Given the description of an element on the screen output the (x, y) to click on. 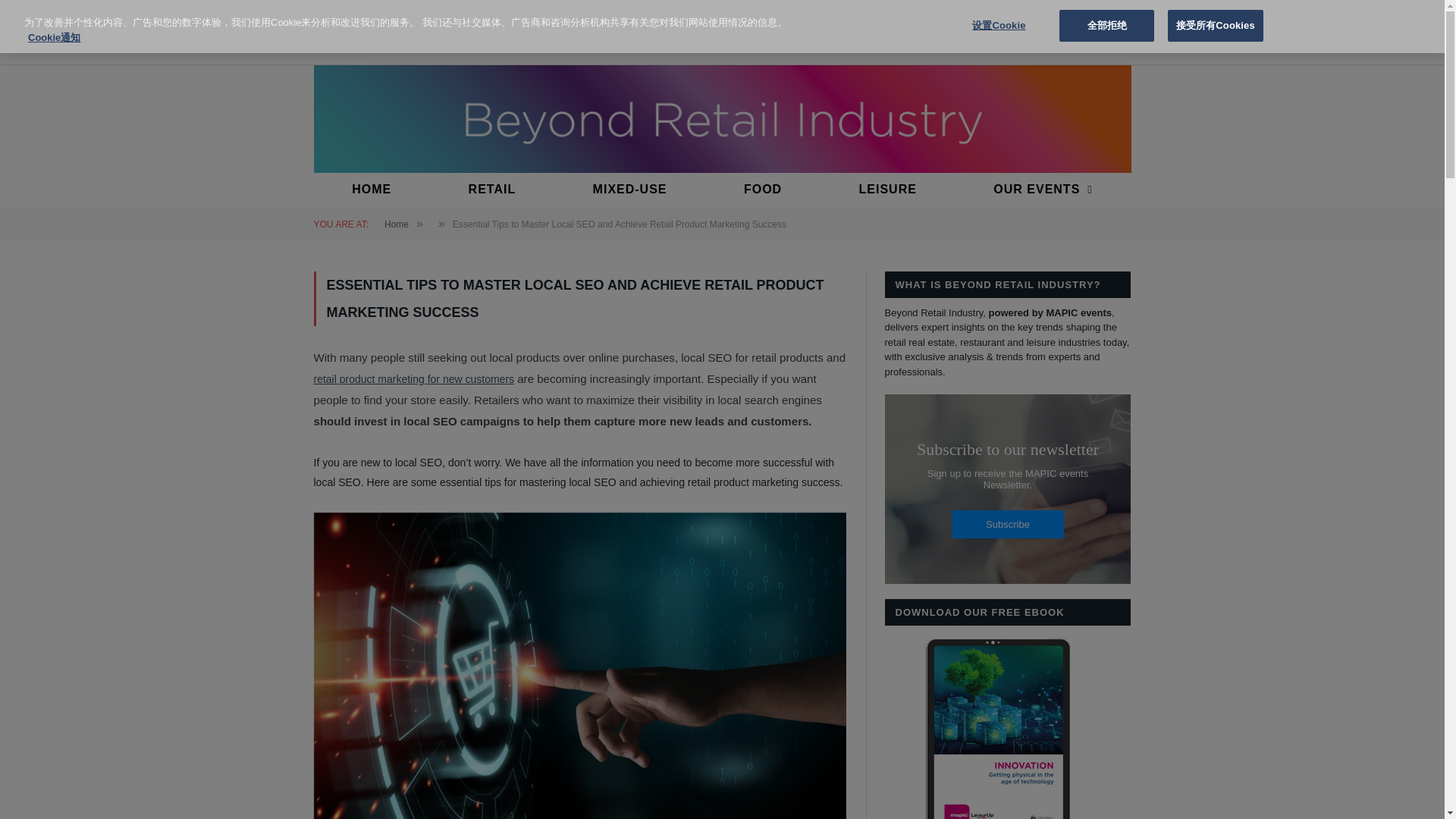
retail product marketing for new customers (414, 378)
MIXED-USE (630, 190)
RETAIL (491, 190)
Beyond Retail Industry (722, 116)
FOOD (762, 190)
Follow us (383, 17)
Home (396, 224)
Subscribe to our newsletter (1007, 488)
HOME (371, 190)
